Given the description of an element on the screen output the (x, y) to click on. 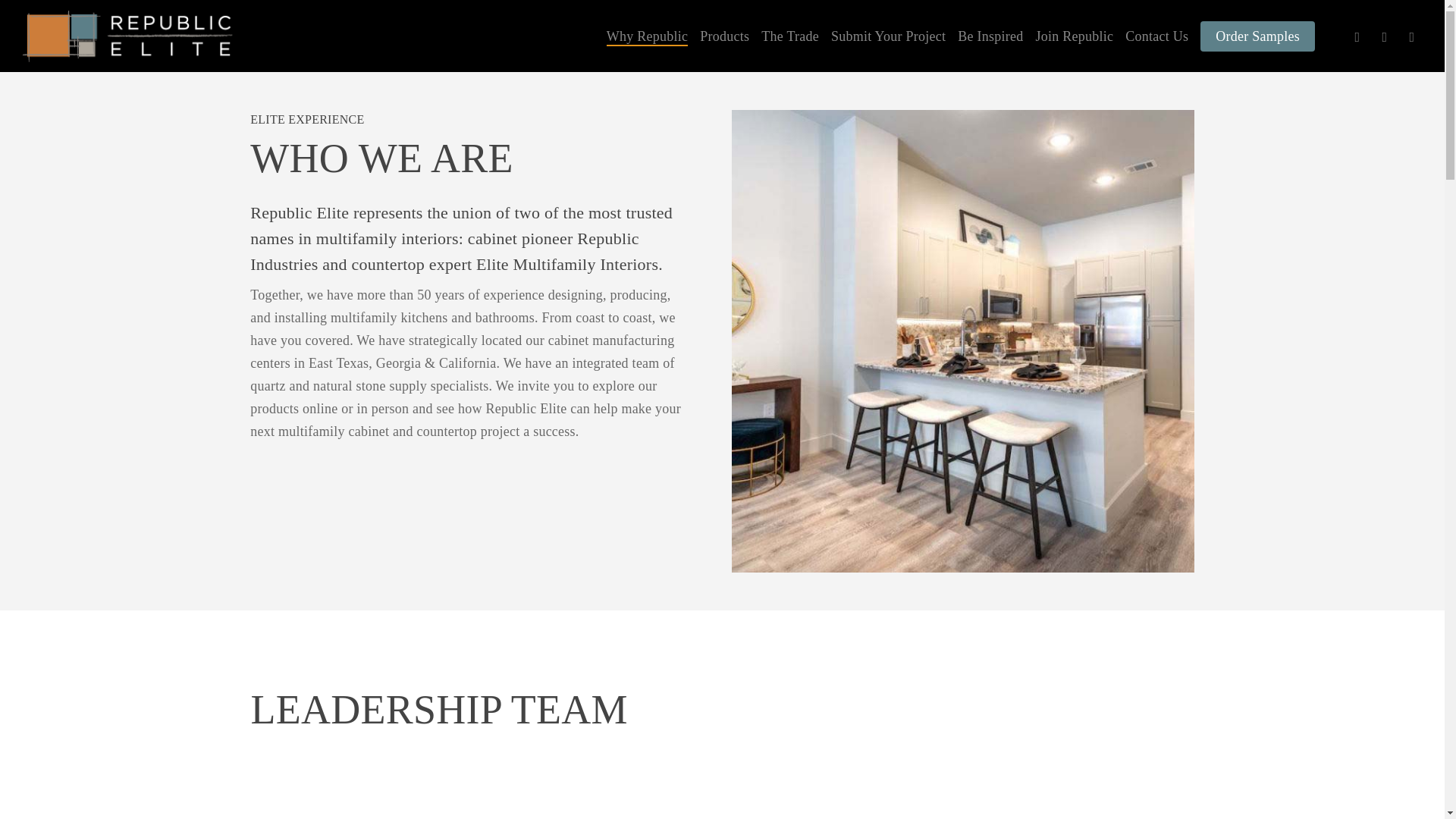
Products (724, 36)
Submit Your Project (887, 36)
Be Inspired (990, 36)
Why Republic (647, 36)
The Trade (789, 36)
